Given the description of an element on the screen output the (x, y) to click on. 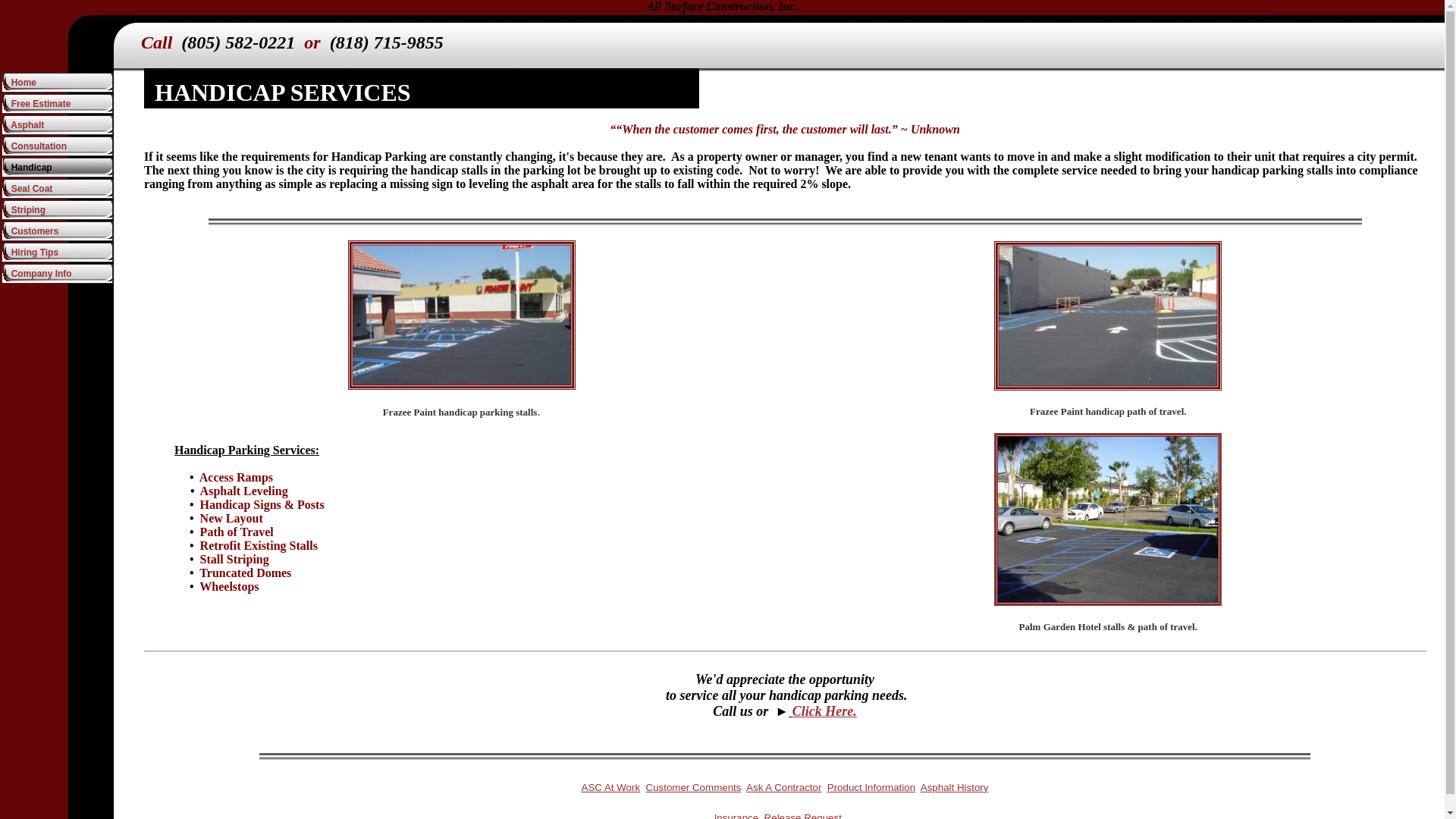
. Customers (57, 230)
. Striping (57, 209)
Click Here. (824, 711)
. Handicap (57, 167)
. Company Info (57, 273)
Insurance (736, 815)
. Asphalt (57, 125)
. Free Estimate (57, 103)
Ask A Contractor (783, 787)
Product Information (871, 787)
. Consultation (57, 146)
Customer Comments (693, 787)
. Seal Coat (57, 189)
. Hiring Tips (57, 252)
Release Request (802, 815)
